Given the description of an element on the screen output the (x, y) to click on. 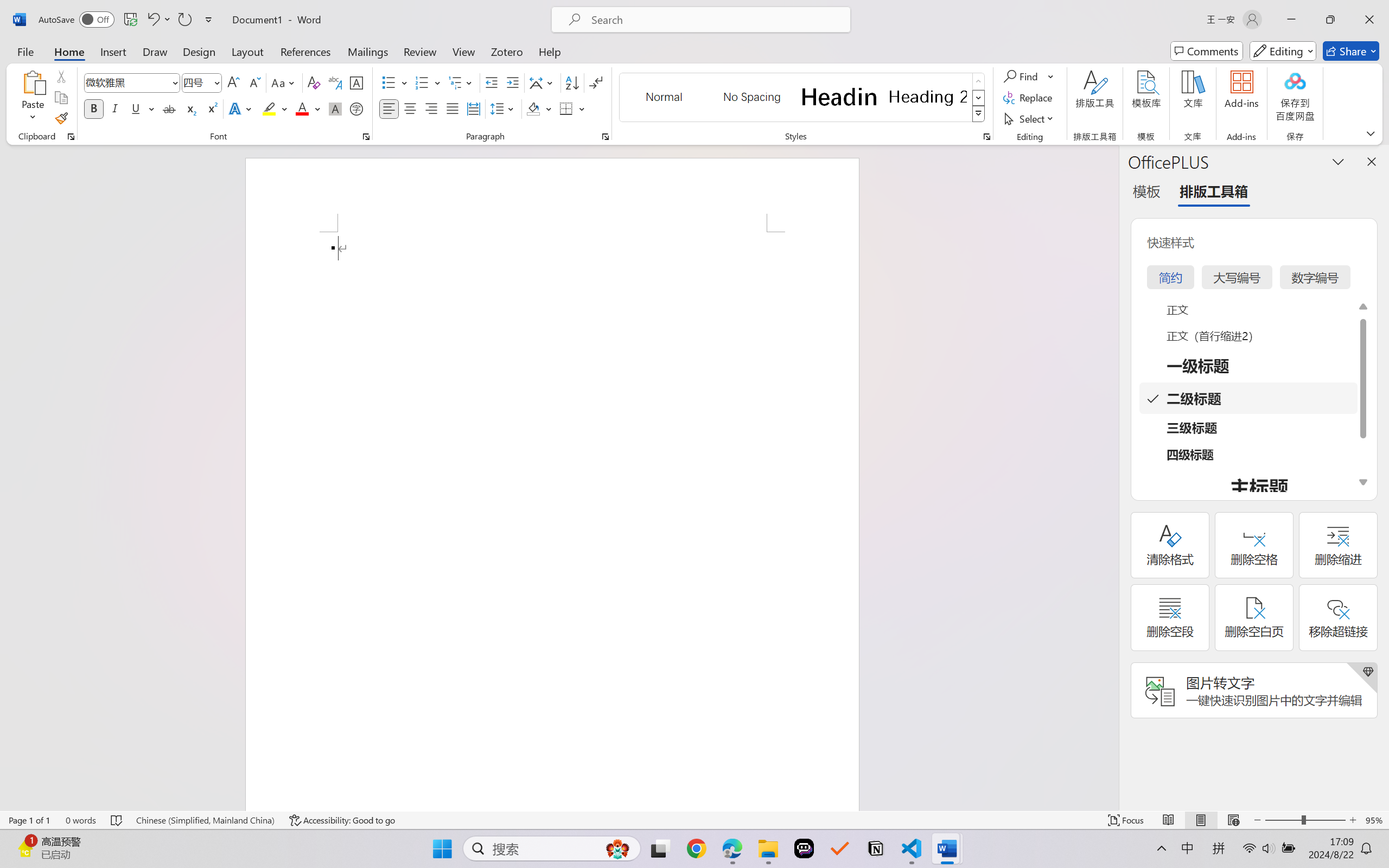
Microsoft search (715, 19)
Repeat Style (184, 19)
Undo <ApplyStyleToDoc>b__0 (158, 19)
